Given the description of an element on the screen output the (x, y) to click on. 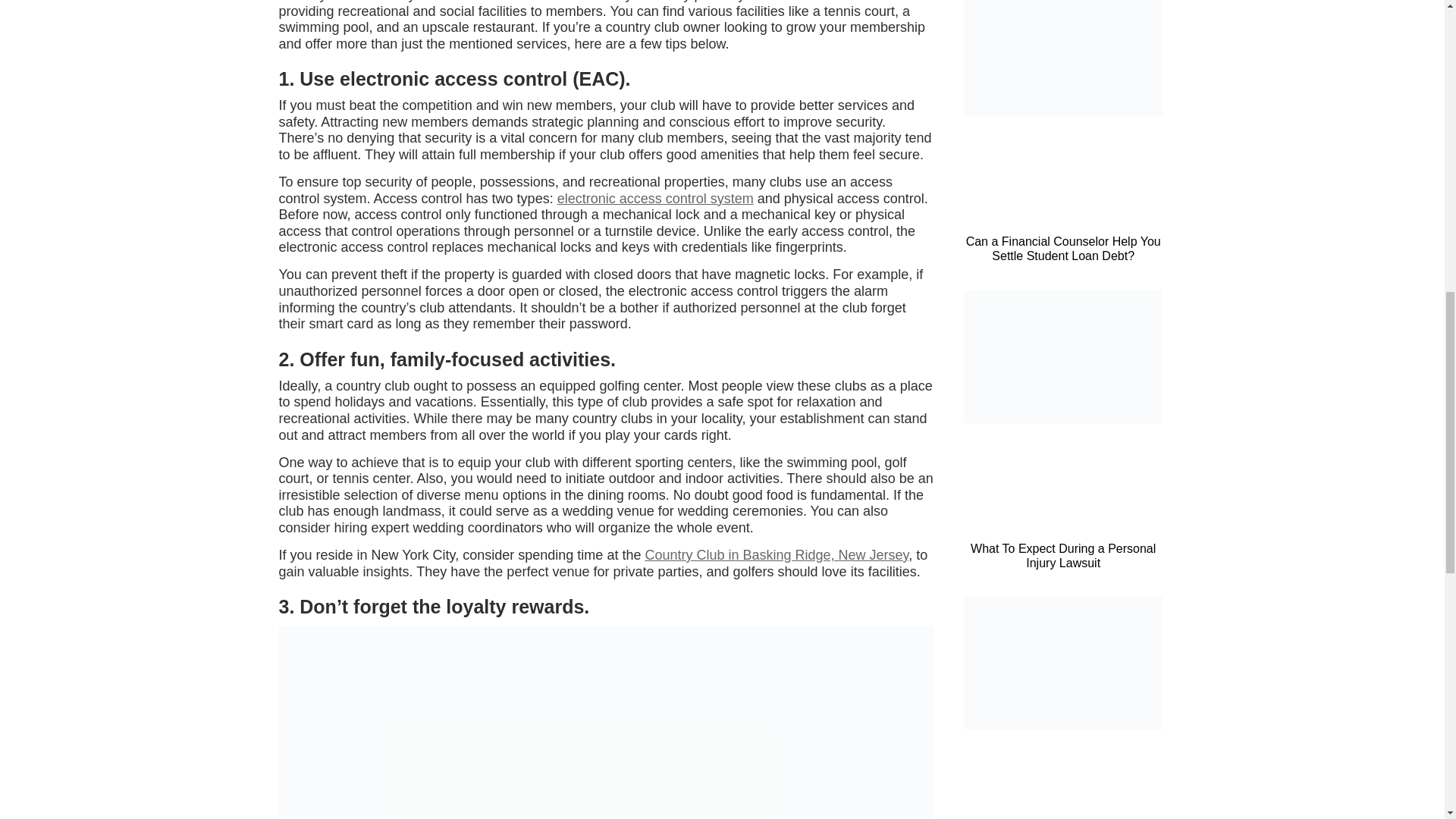
electronic access control system (655, 198)
Country Club in Basking Ridge, New Jersey (776, 554)
Can a Financial Counselor Help You Settle Student Loan Debt? (1063, 248)
What To Expect During a Personal Injury Lawsuit (1063, 555)
